Given the description of an element on the screen output the (x, y) to click on. 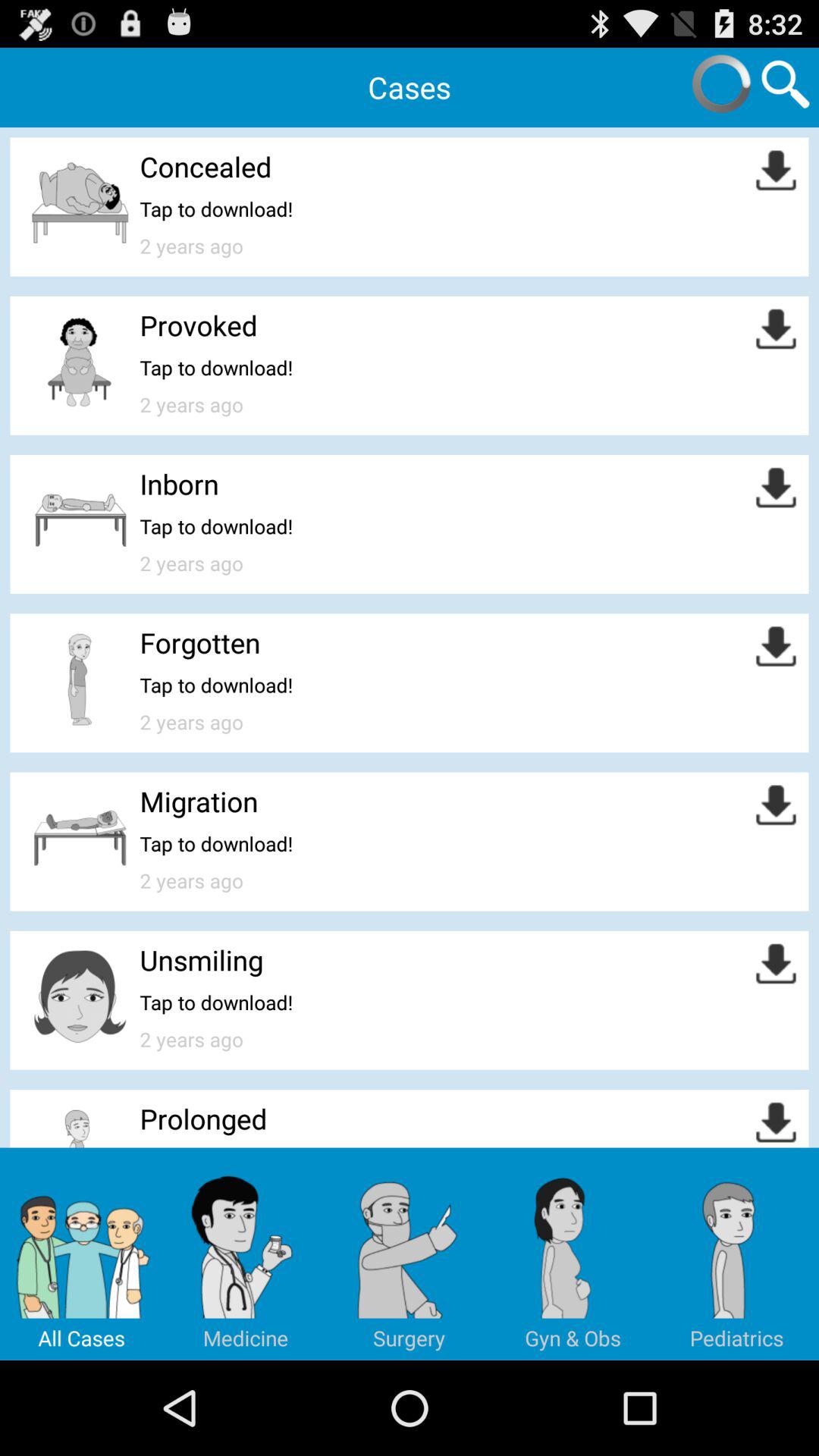
launch the migration app (198, 801)
